Given the description of an element on the screen output the (x, y) to click on. 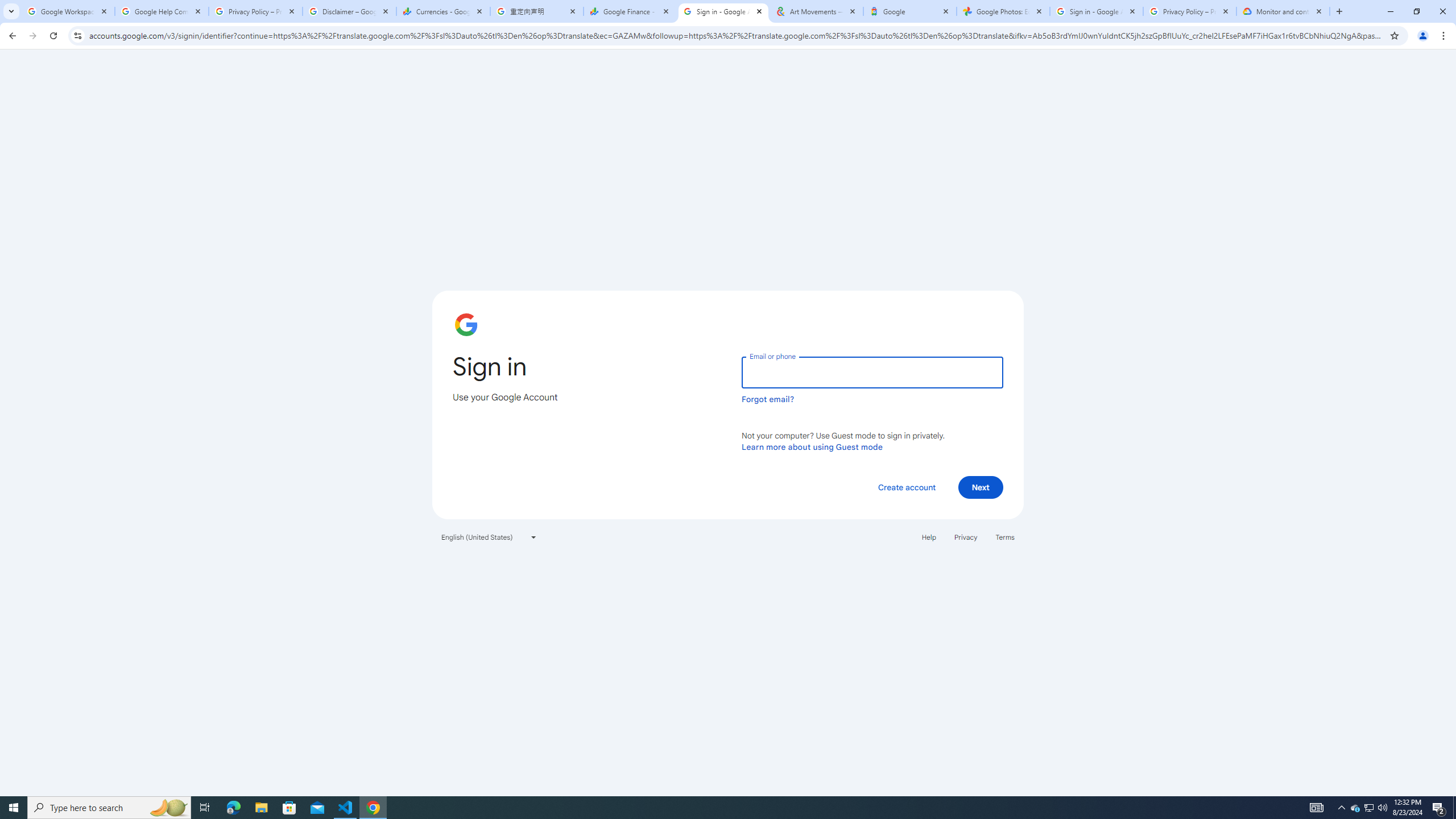
Email or phone (871, 372)
Google Workspace Admin Community (67, 11)
Google (909, 11)
Privacy (965, 536)
